Given the description of an element on the screen output the (x, y) to click on. 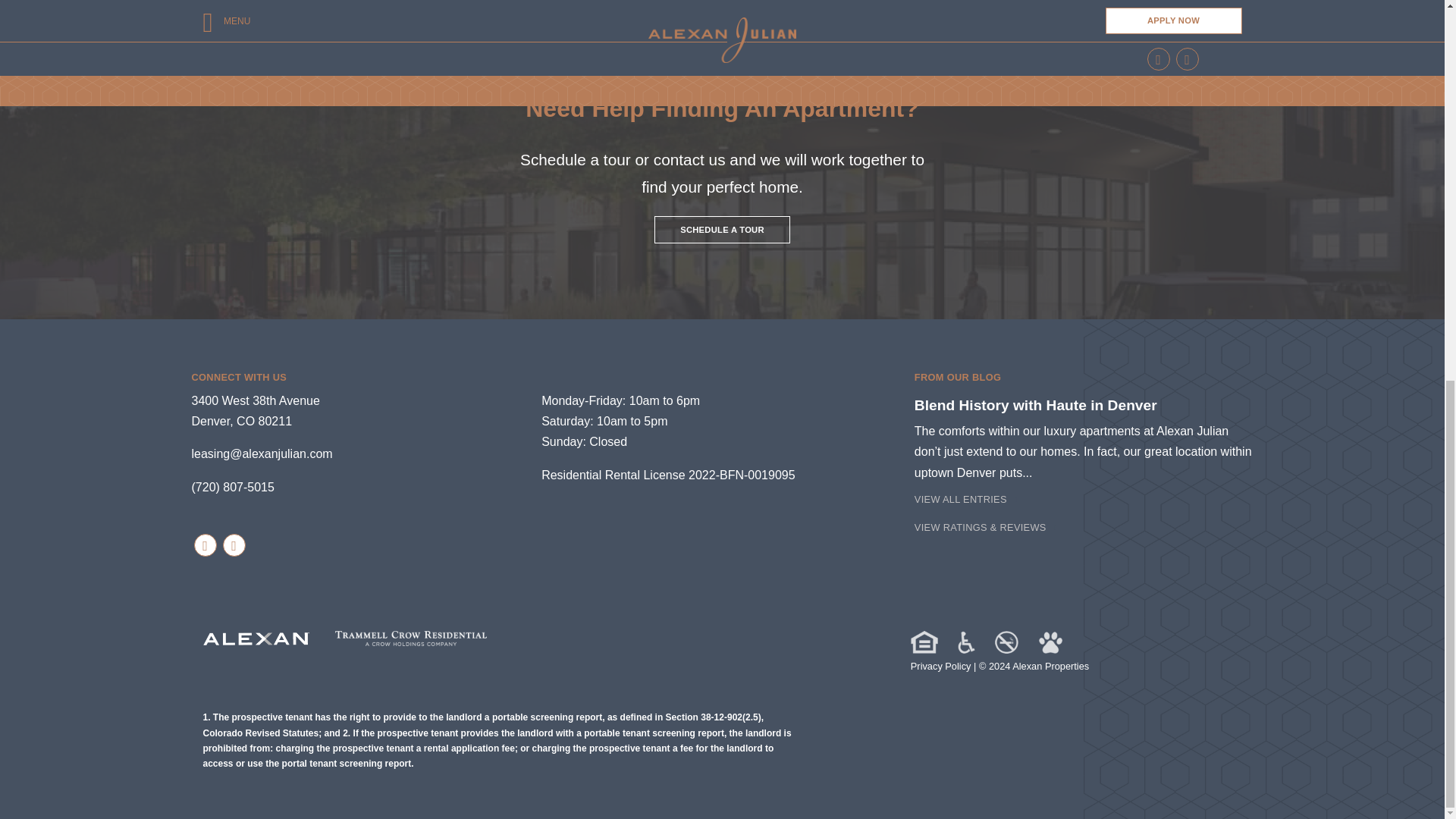
Privacy Policy (941, 665)
Blend History with Haute in Denver (1035, 405)
SCHEDULE A TOUR (721, 229)
VIEW ALL ENTRIES (254, 410)
